Given the description of an element on the screen output the (x, y) to click on. 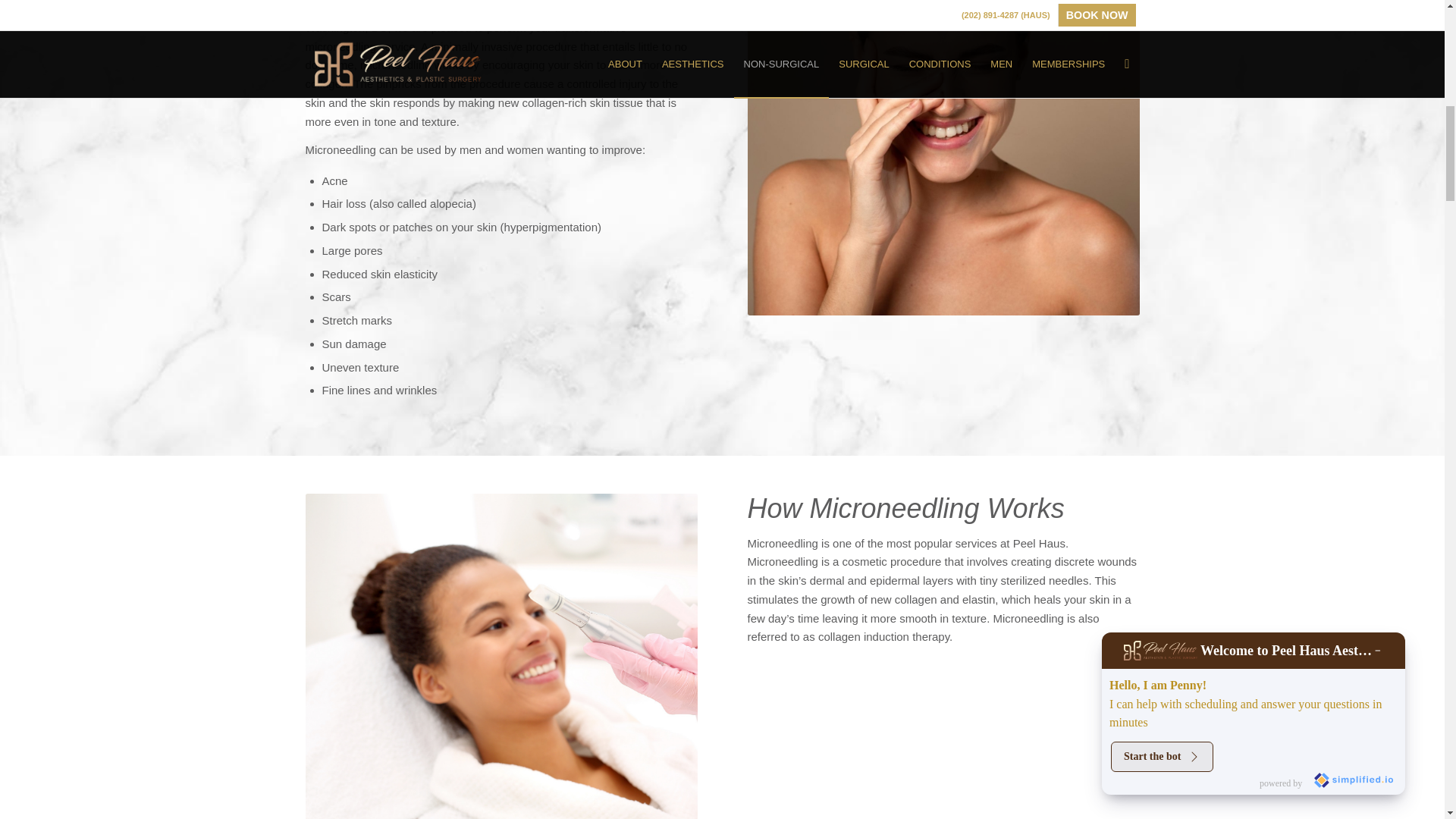
microneedling dc (500, 656)
